Given the description of an element on the screen output the (x, y) to click on. 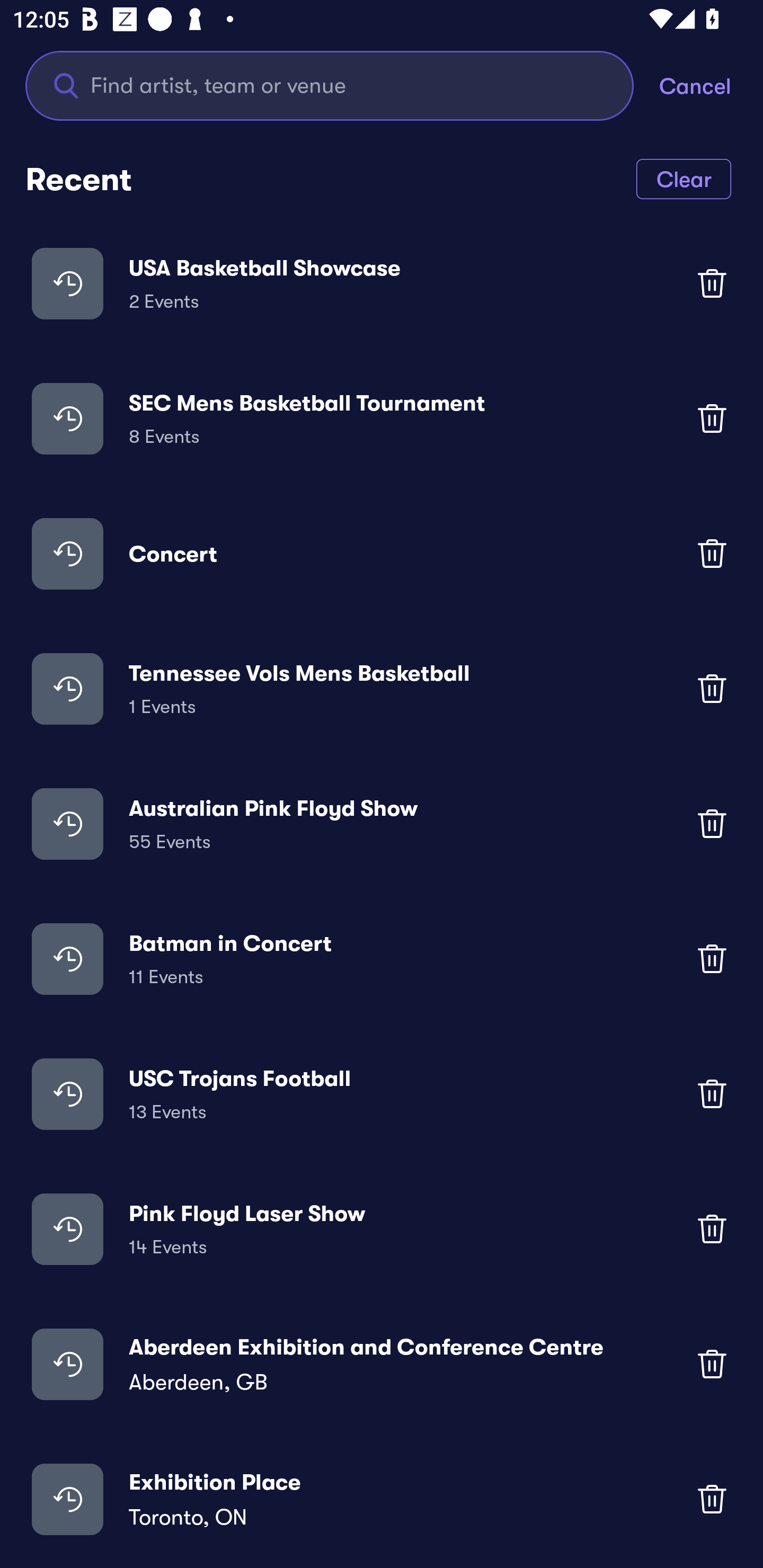
Cancel (711, 85)
Find artist, team or venue Find (329, 85)
Find artist, team or venue Find (341, 85)
Clear (683, 178)
USA Basketball Showcase 2 Events (381, 282)
SEC Mens Basketball Tournament 8 Events (381, 417)
Concert (381, 553)
Tennessee Vols Mens Basketball 1 Events (381, 688)
Australian Pink Floyd Show 55 Events (381, 823)
Batman in Concert 11 Events (381, 958)
USC Trojans Football 13 Events (381, 1093)
Pink Floyd Laser Show 14 Events (381, 1228)
Exhibition Place Toronto, ON (381, 1498)
